Given the description of an element on the screen output the (x, y) to click on. 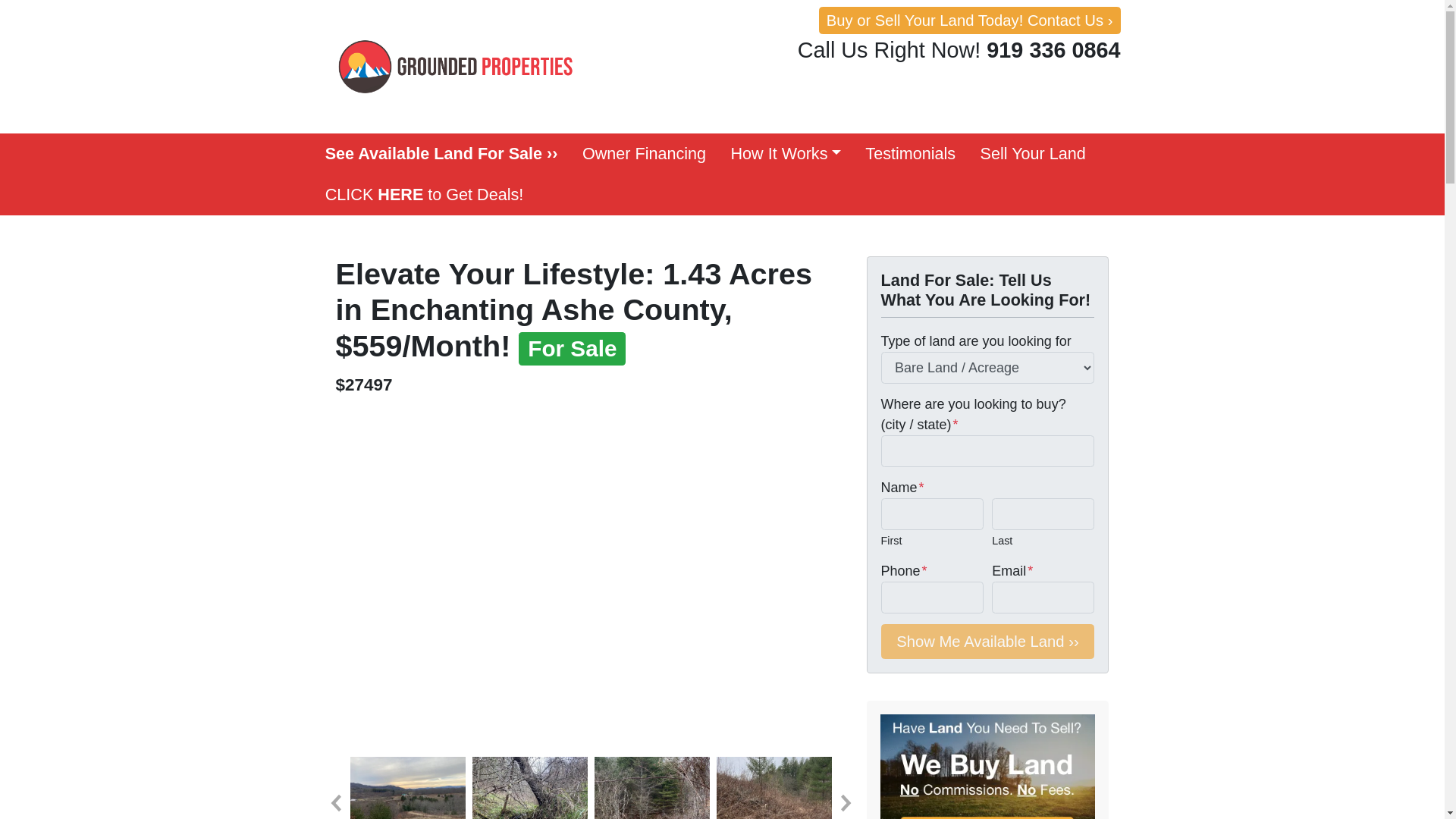
How It Works (785, 153)
CLICK HERE to Get Deals! (424, 194)
Sell Your Land (1032, 153)
Owner Financing (644, 153)
Testimonials (910, 153)
Testimonials (910, 153)
Sell Your Land (1032, 153)
CLICK HERE to Get Deals! (424, 194)
How It Works (785, 153)
Owner Financing (644, 153)
